Given the description of an element on the screen output the (x, y) to click on. 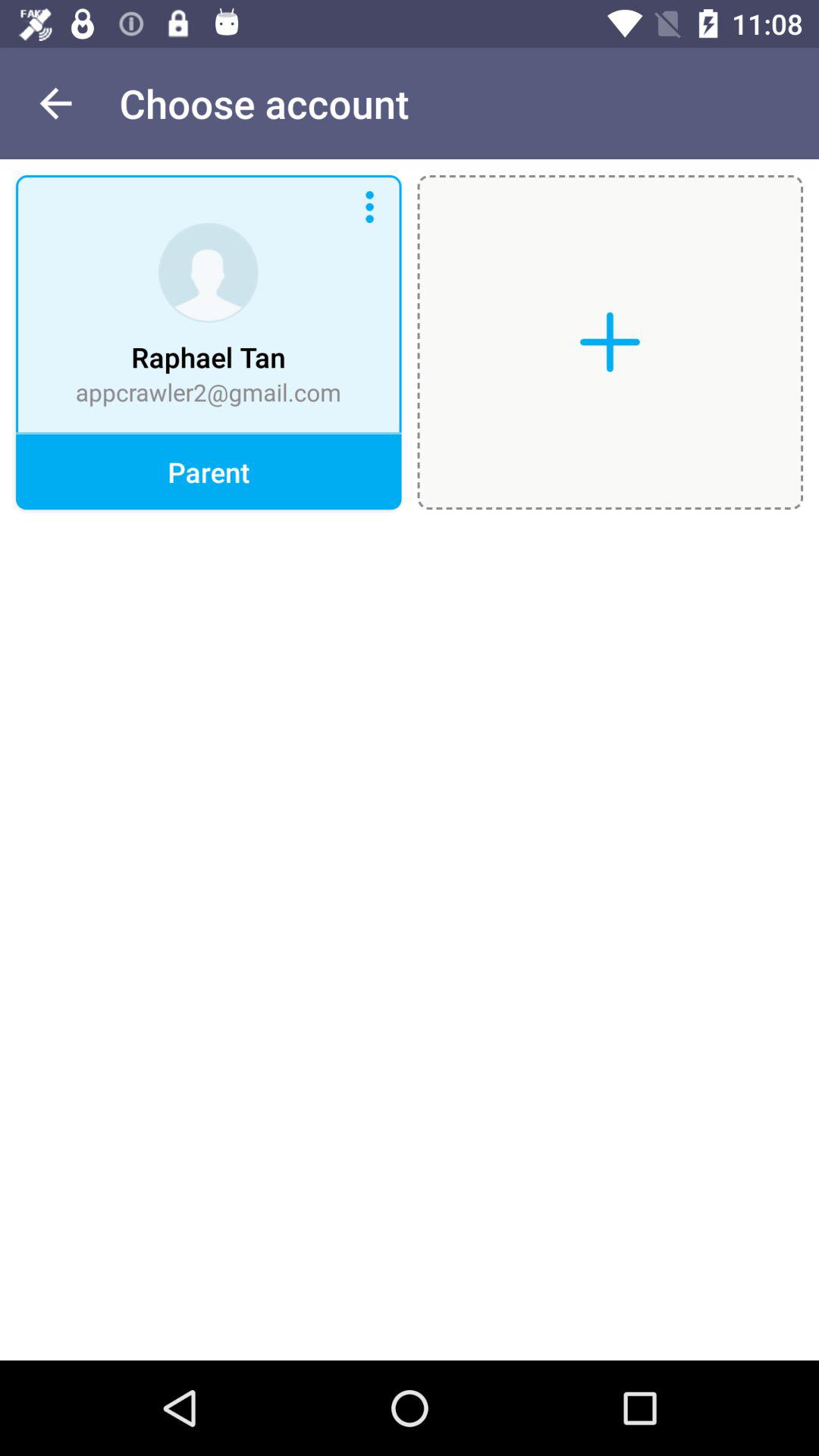
menu (369, 206)
